Given the description of an element on the screen output the (x, y) to click on. 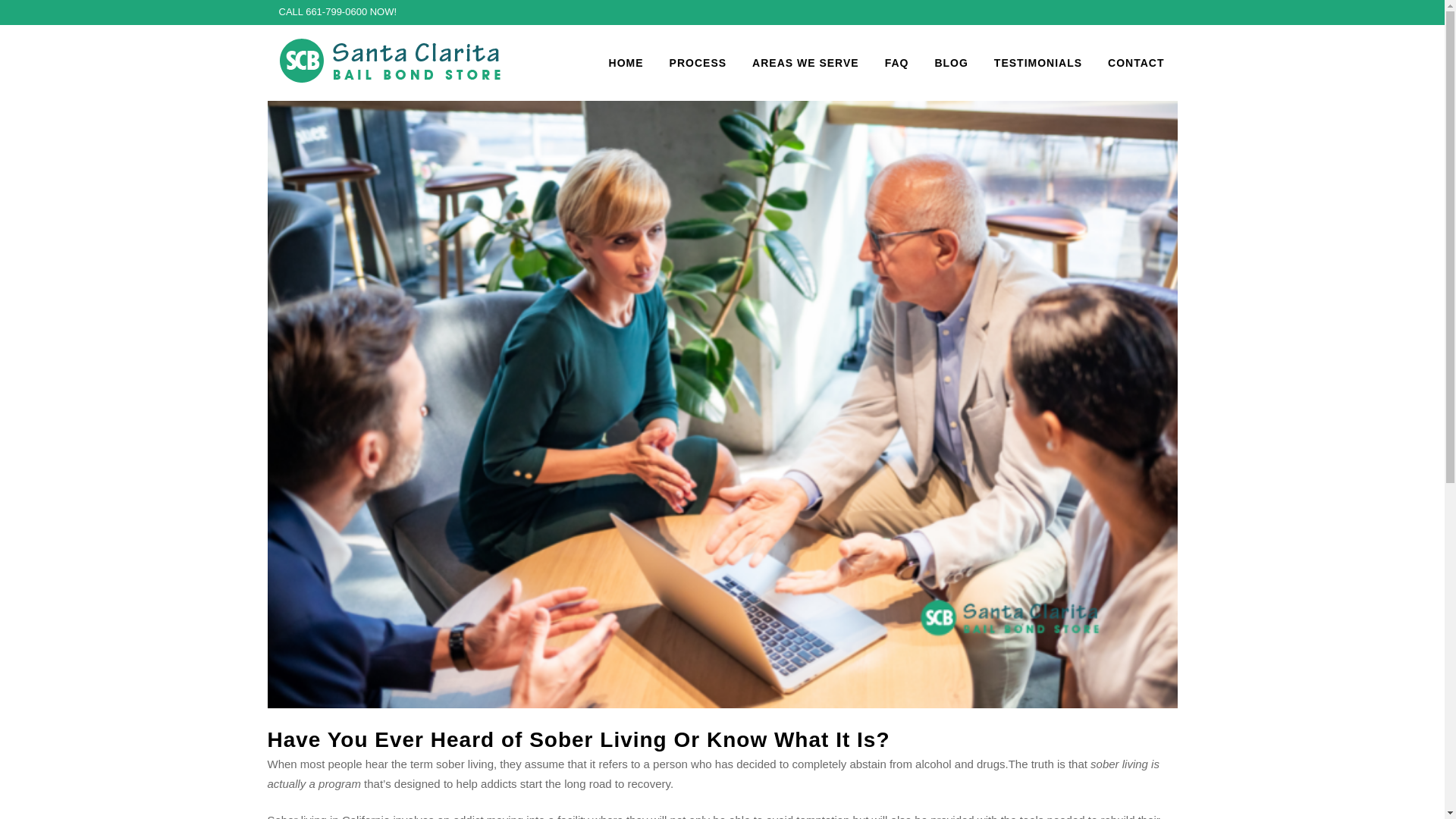
TESTIMONIALS (1037, 62)
FAQ (896, 62)
HOME (625, 62)
BLOG (950, 62)
AREAS WE SERVE (805, 62)
PROCESS (697, 62)
CONTACT (1135, 62)
